Given the description of an element on the screen output the (x, y) to click on. 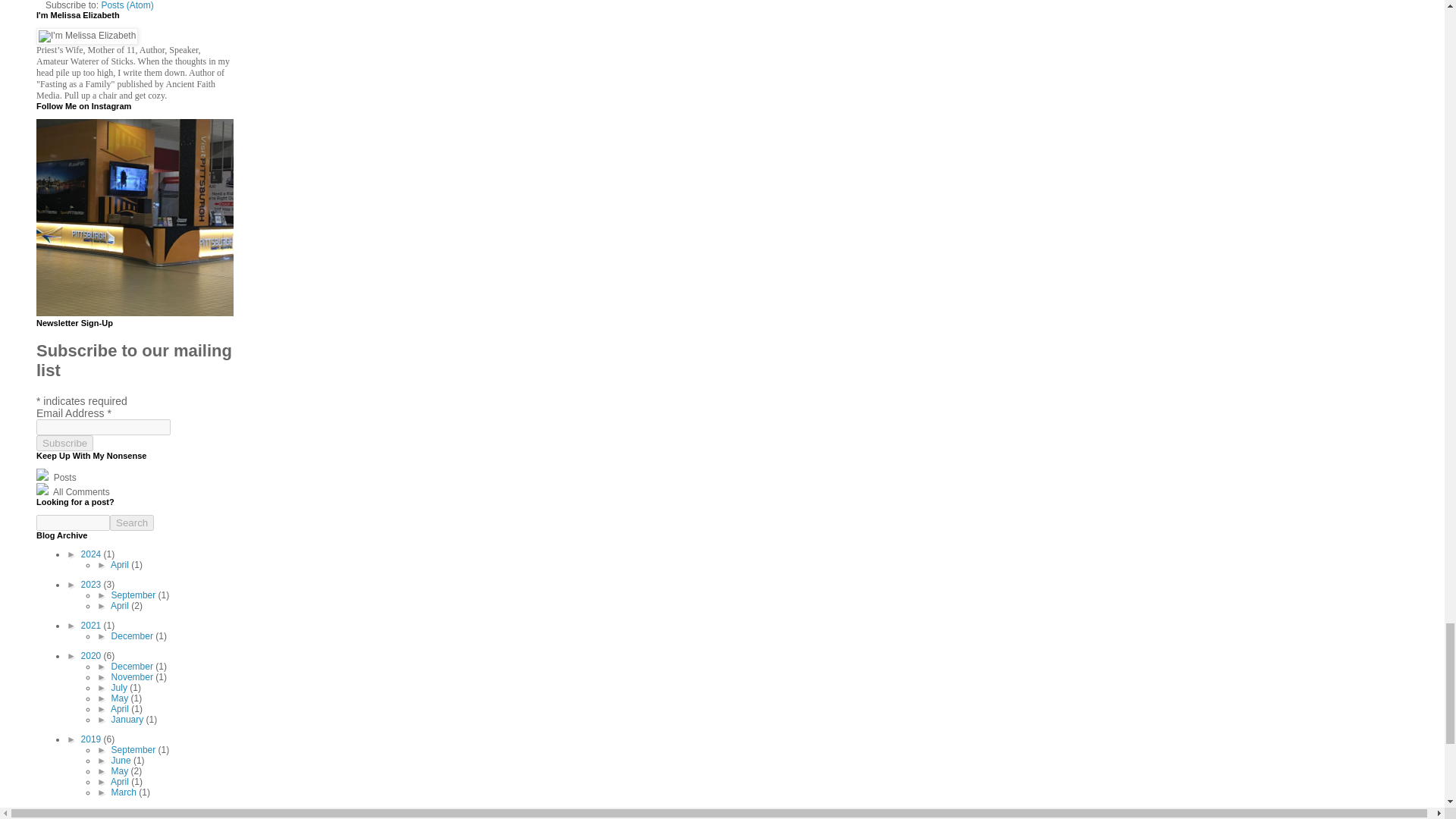
Search (132, 522)
Search (132, 522)
Subscribe (64, 442)
